Given the description of an element on the screen output the (x, y) to click on. 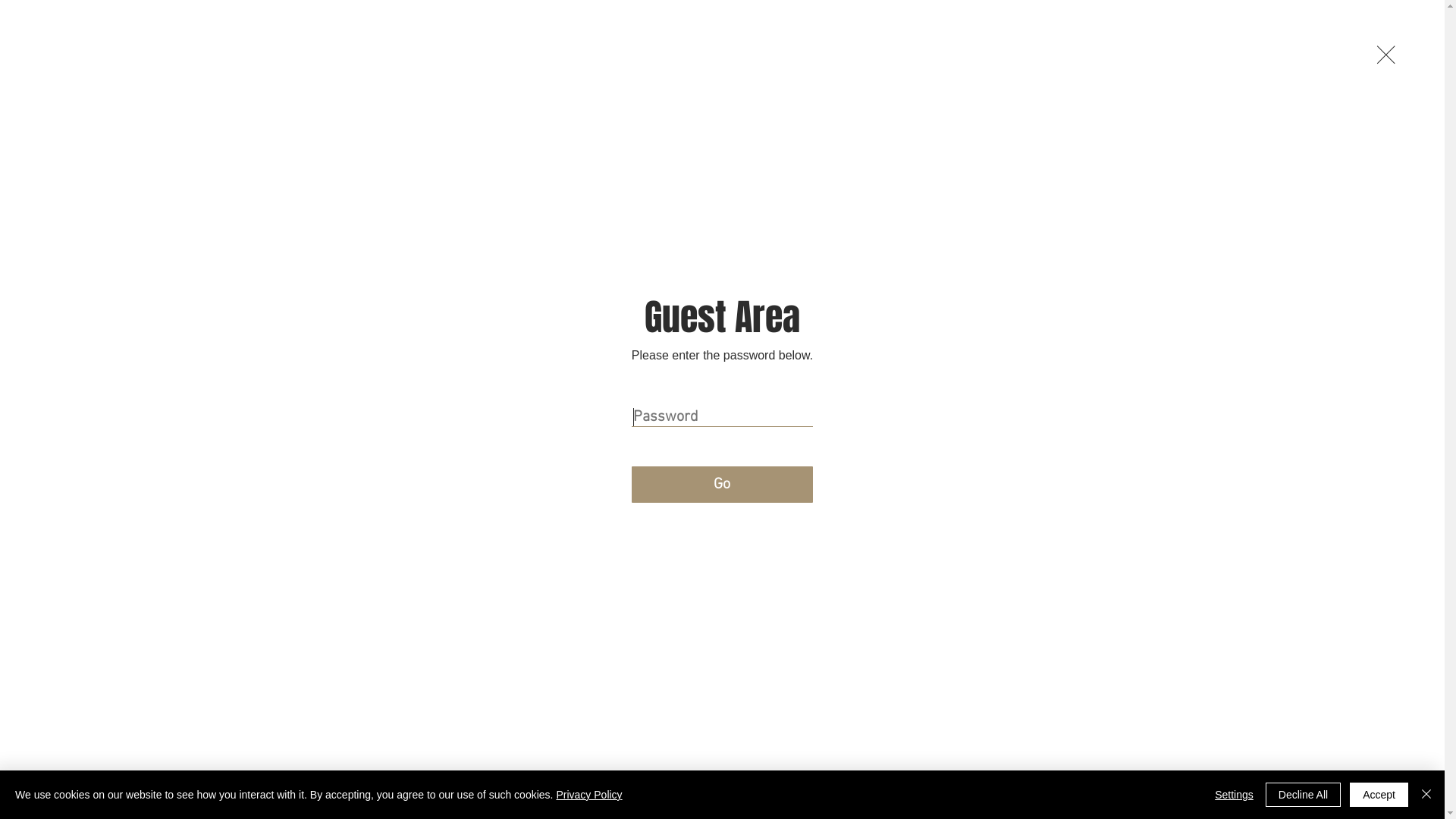
Accept Element type: text (1378, 794)
Privacy Policy Element type: text (588, 794)
Decline All Element type: text (1302, 794)
Go Element type: text (721, 484)
